Given the description of an element on the screen output the (x, y) to click on. 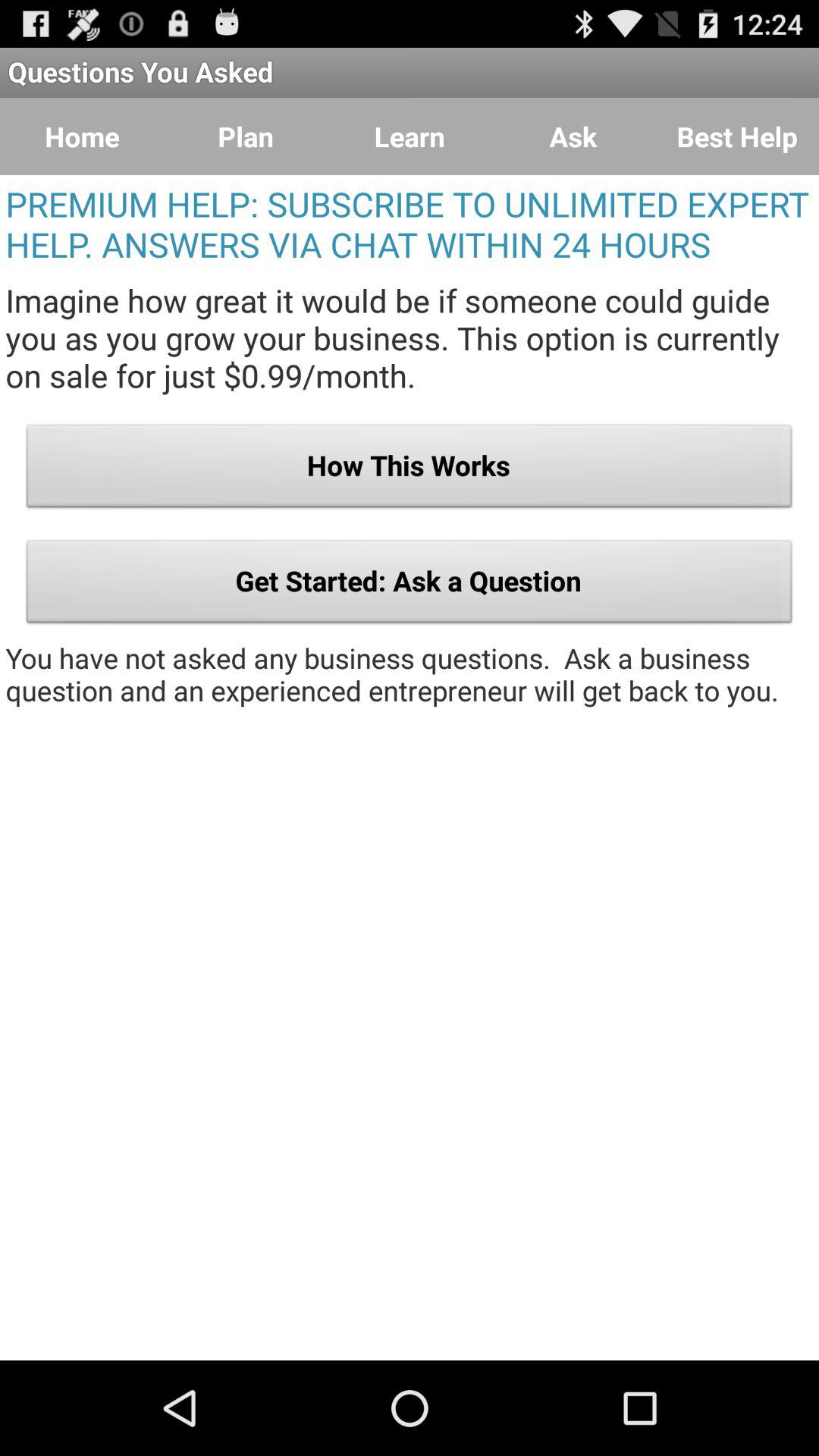
press the item next to ask item (409, 136)
